Given the description of an element on the screen output the (x, y) to click on. 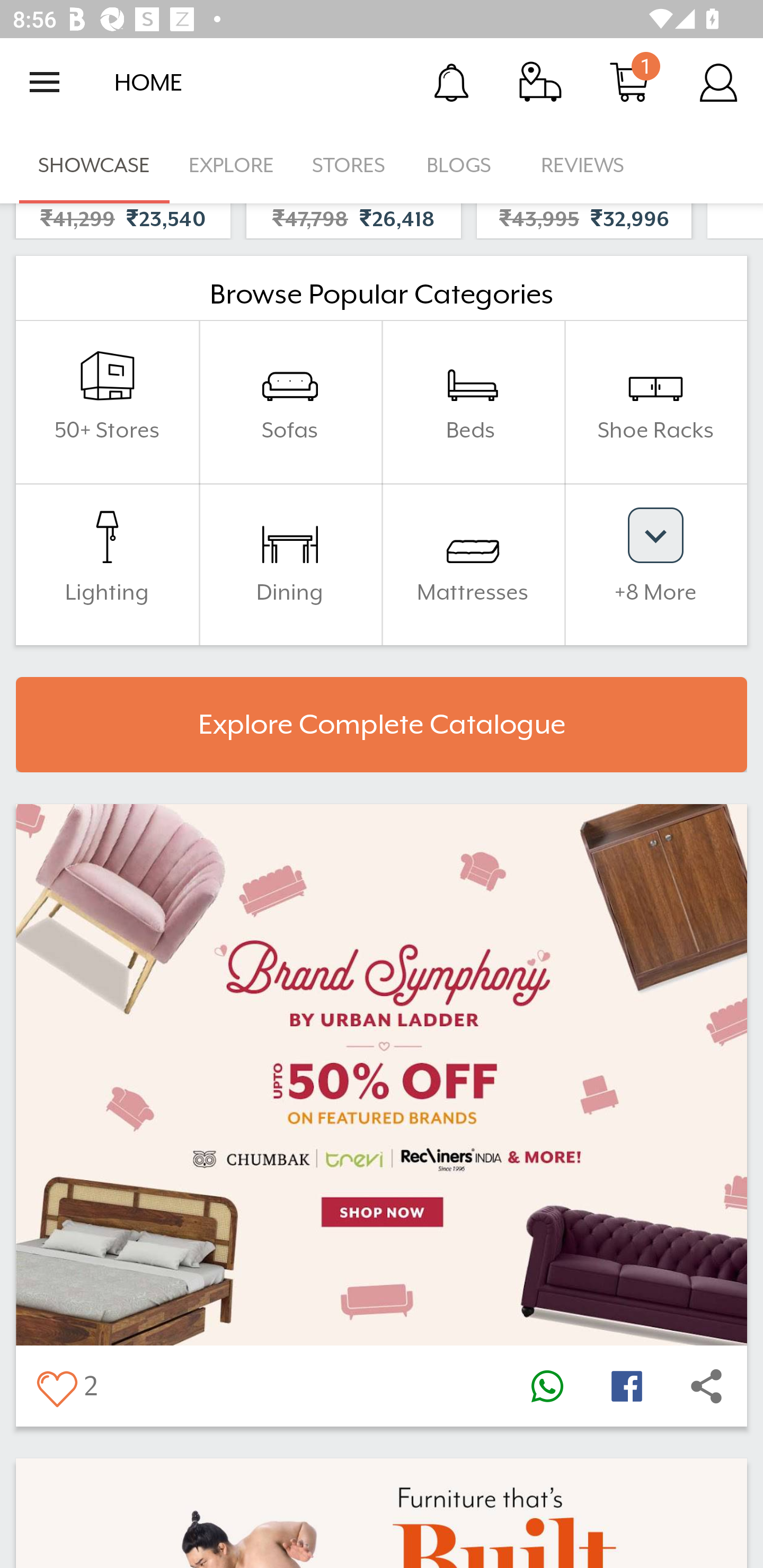
Open navigation drawer (44, 82)
Notification (450, 81)
Track Order (540, 81)
Cart (629, 81)
Account Details (718, 81)
SHOWCASE (94, 165)
EXPLORE (230, 165)
STORES (349, 165)
BLOGS (464, 165)
REVIEWS (582, 165)
₹41,299 ₹23,540 (123, 220)
₹47,798 ₹26,418 (353, 220)
₹43,995 ₹32,996 (583, 220)
50+ Stores (106, 402)
Sofas (289, 402)
Beds  (473, 402)
Shoe Racks (655, 402)
Lighting (106, 563)
Dining (289, 563)
Mattresses (473, 563)
 +8 More (655, 563)
Explore Complete Catalogue (381, 725)
 (55, 1385)
 (547, 1385)
 (626, 1385)
 (706, 1385)
